Given the description of an element on the screen output the (x, y) to click on. 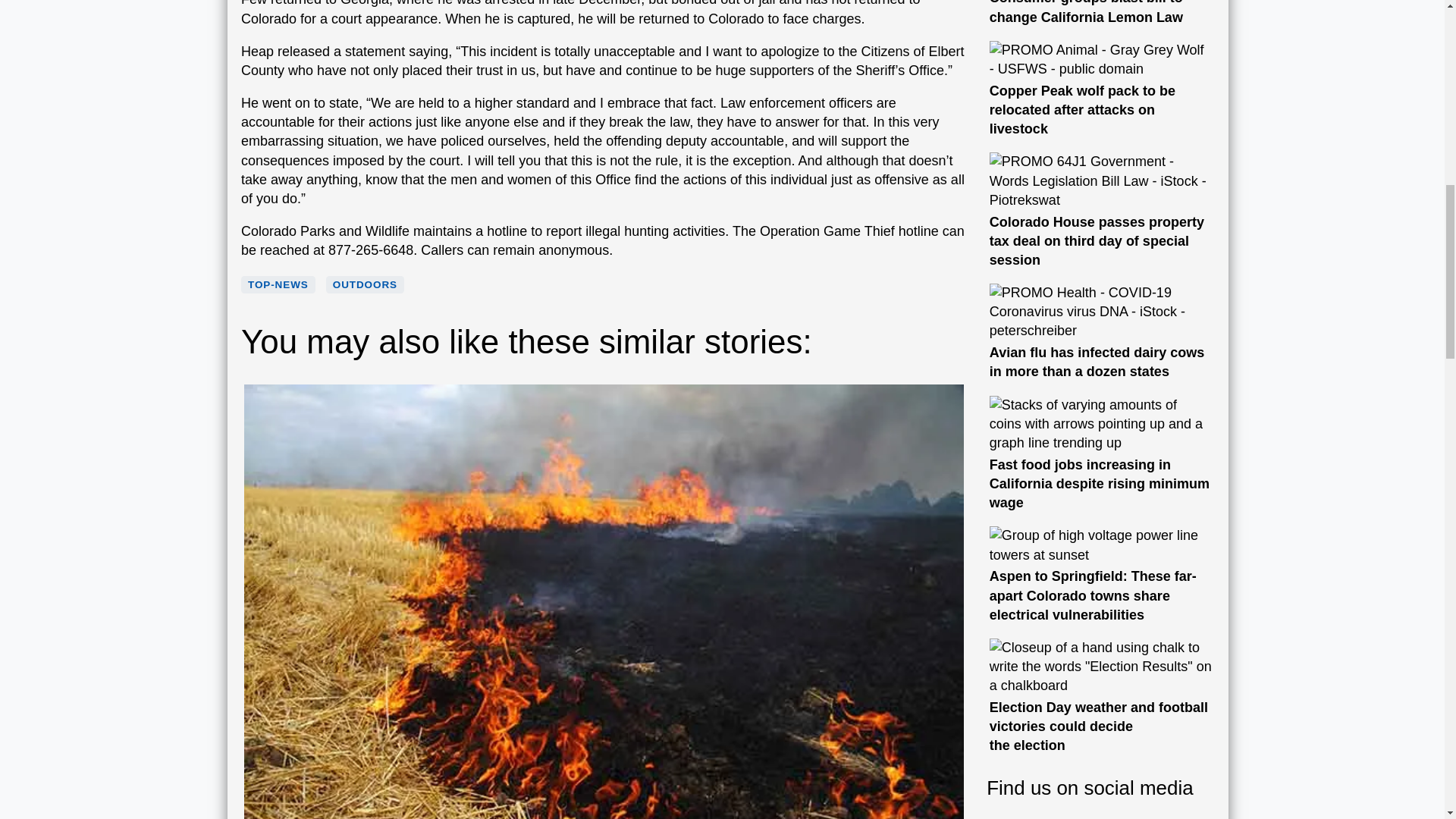
TOP-NEWS (277, 284)
